Given the description of an element on the screen output the (x, y) to click on. 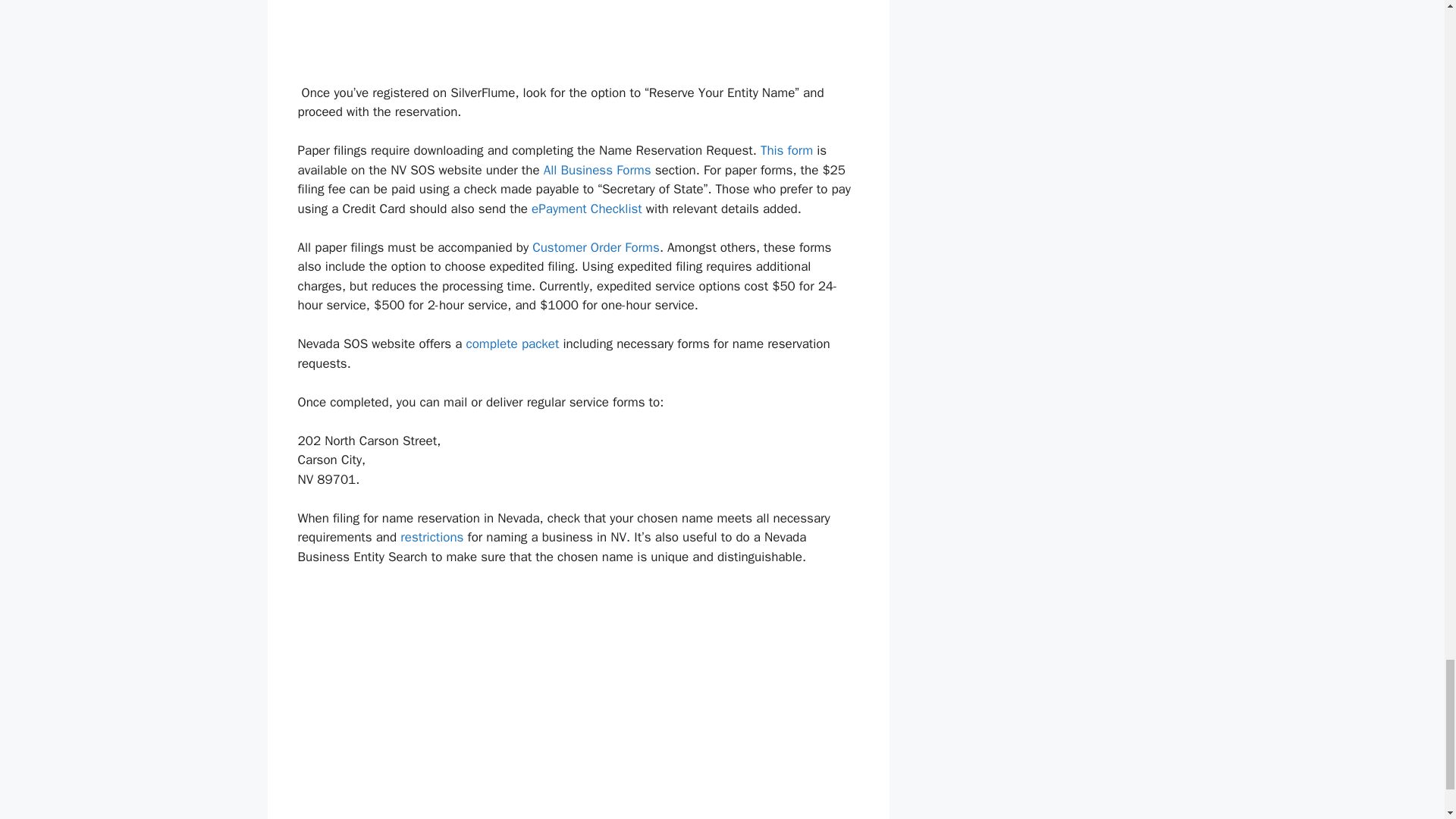
complete packet (512, 343)
All Business Forms (596, 170)
ePayment Checklist (586, 208)
Customer Order Forms (595, 247)
This form (786, 150)
restrictions (431, 537)
